Given the description of an element on the screen output the (x, y) to click on. 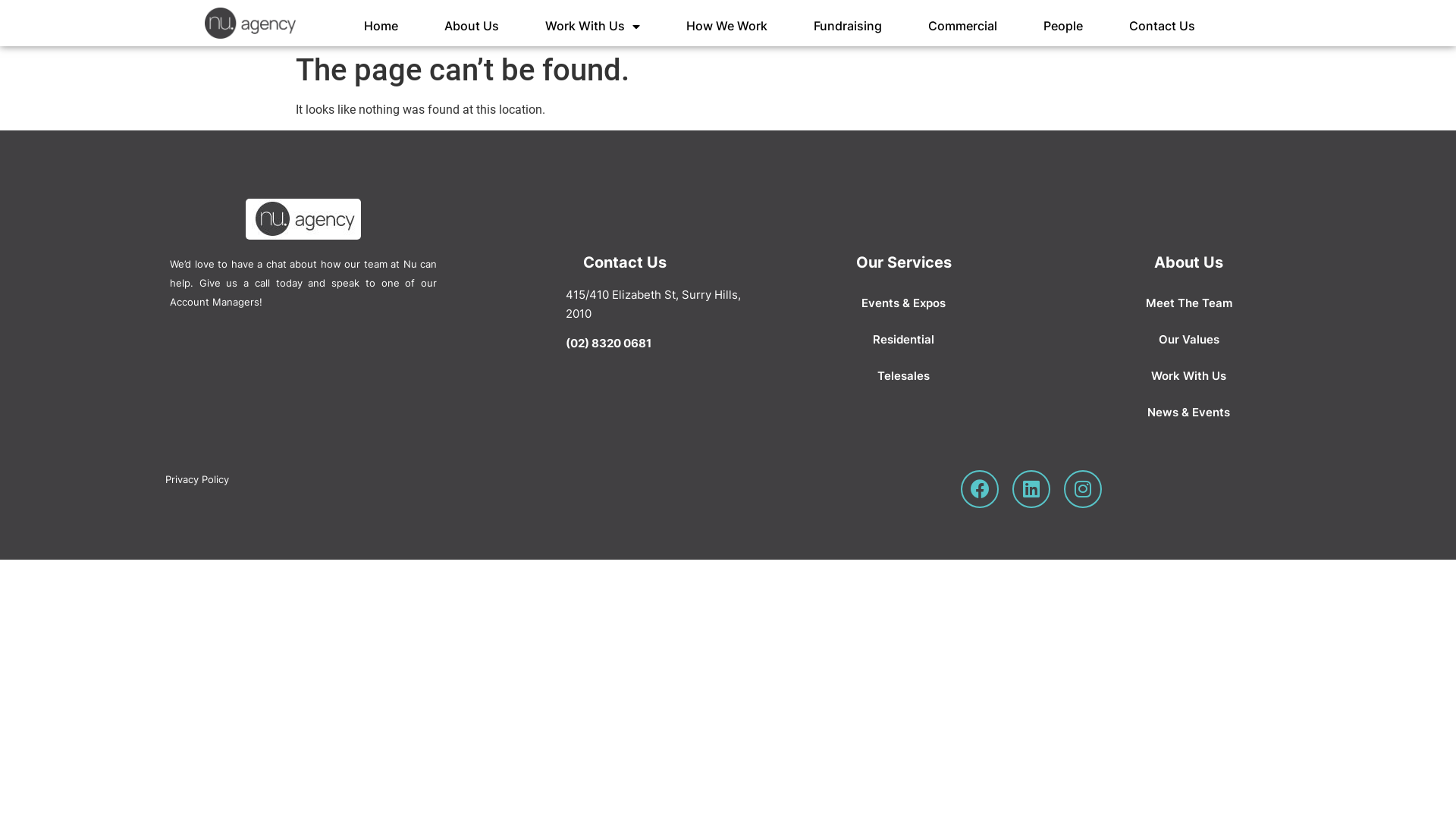
Commercial Element type: text (962, 26)
News & Events Element type: text (1189, 412)
Meet The Team Element type: text (1189, 303)
Residential Element type: text (903, 339)
About Us Element type: text (471, 26)
Home Element type: text (380, 26)
Work With Us Element type: text (1189, 375)
People Element type: text (1062, 26)
Telesales Element type: text (903, 375)
Fundraising Element type: text (847, 26)
How We Work Element type: text (726, 26)
Events & Expos Element type: text (903, 303)
Work With Us Element type: text (592, 26)
Contact Us Element type: text (1162, 26)
Our Values Element type: text (1189, 339)
